Given the description of an element on the screen output the (x, y) to click on. 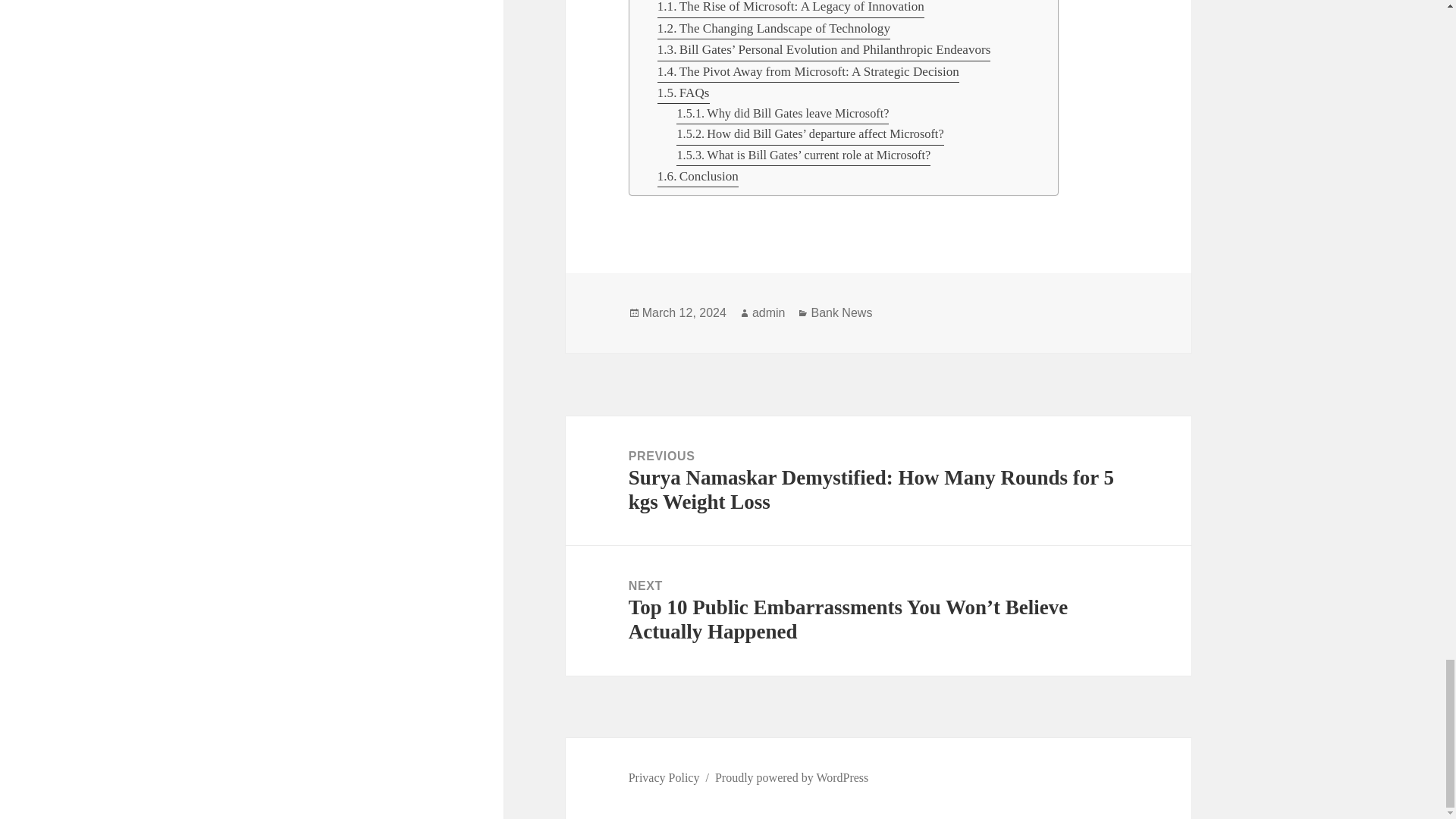
Proudly powered by WordPress (790, 777)
FAQs (684, 93)
The Changing Landscape of Technology (773, 28)
Bank News (841, 313)
Why did Bill Gates leave Microsoft? (782, 114)
The Rise of Microsoft: A Legacy of Innovation (791, 8)
Conclusion (698, 176)
The Pivot Away from Microsoft: A Strategic Decision (808, 71)
The Rise of Microsoft: A Legacy of Innovation (791, 8)
Privacy Policy (664, 777)
